Given the description of an element on the screen output the (x, y) to click on. 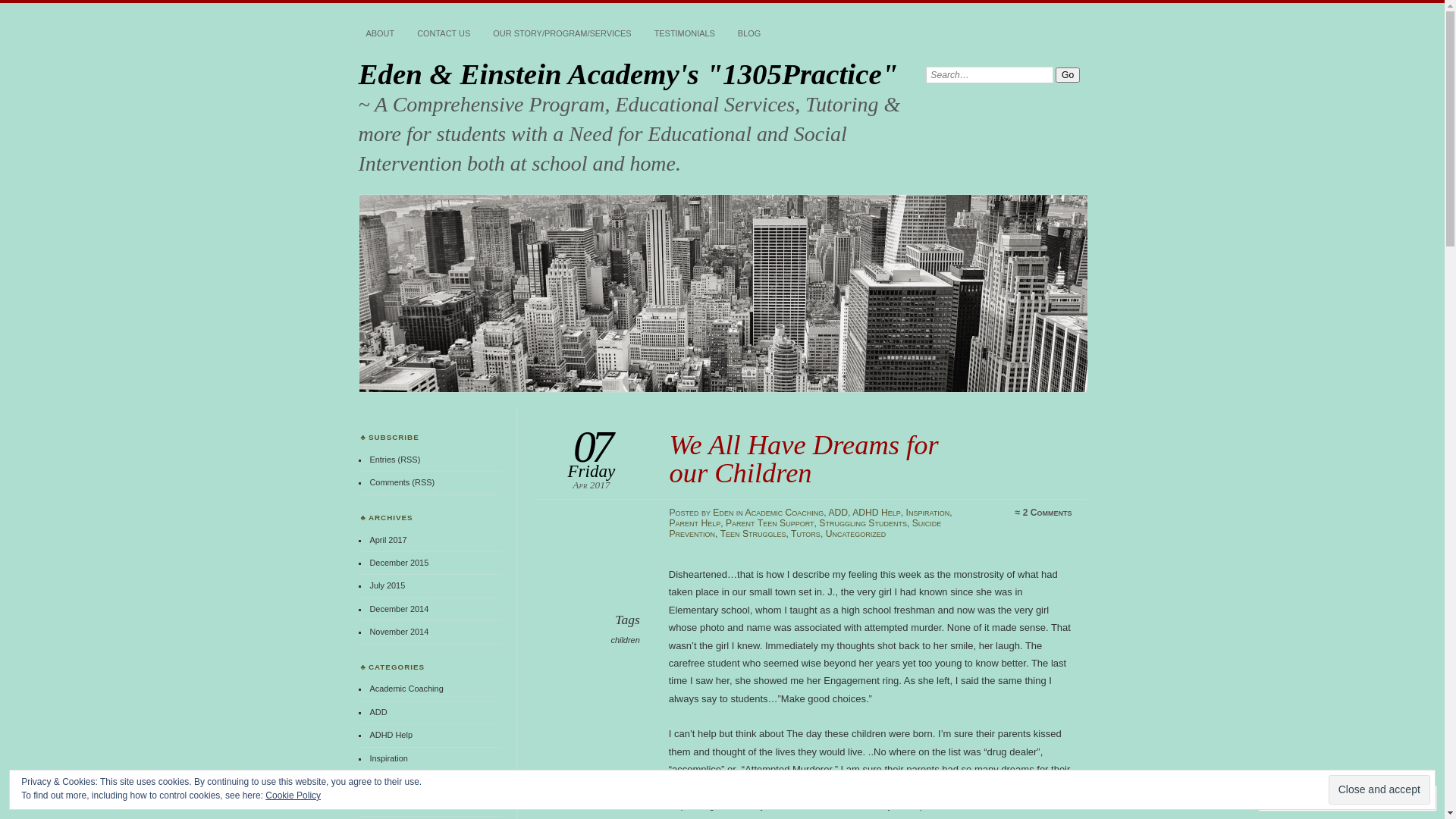
BLOG Element type: text (749, 33)
Parent Teen Support Element type: text (407, 803)
Eden & Einstein Academy's "1305Practice" Element type: text (627, 73)
Academic Coaching Element type: text (784, 512)
Teen Struggles Element type: text (753, 533)
December 2015 Element type: text (398, 562)
Cookie Policy Element type: text (292, 795)
ADHD Help Element type: text (876, 512)
April 2017 Element type: text (387, 539)
Follow Element type: text (1374, 797)
ABOUT Element type: text (379, 33)
Parent Teen Support Element type: text (769, 522)
Inspiration Element type: text (928, 512)
ADD Element type: text (377, 711)
TESTIMONIALS Element type: text (684, 33)
Go Element type: text (1067, 74)
Parent Help Element type: text (391, 780)
Inspiration Element type: text (388, 757)
ADHD Help Element type: text (390, 734)
Comment Element type: text (1299, 797)
Comments (RSS) Element type: text (401, 481)
Uncategorized Element type: text (855, 533)
children Element type: text (624, 639)
Academic Coaching Element type: text (405, 688)
July 2015 Element type: text (386, 584)
Struggling Students Element type: text (862, 522)
November 2014 Element type: text (398, 631)
Parent Help Element type: text (694, 522)
Eden Element type: text (722, 512)
CONTACT US Element type: text (443, 33)
Suicide Prevention Element type: text (804, 528)
Tutors Element type: text (805, 533)
Close and accept Element type: text (1379, 789)
2 Comments Element type: text (1047, 512)
Entries (RSS) Element type: text (394, 459)
OUR STORY/PROGRAM/SERVICES Element type: text (561, 33)
ADD Element type: text (837, 512)
Eden & Einstein Academy's "1305Practice" Element type: hover (722, 293)
December 2014 Element type: text (398, 608)
